Given the description of an element on the screen output the (x, y) to click on. 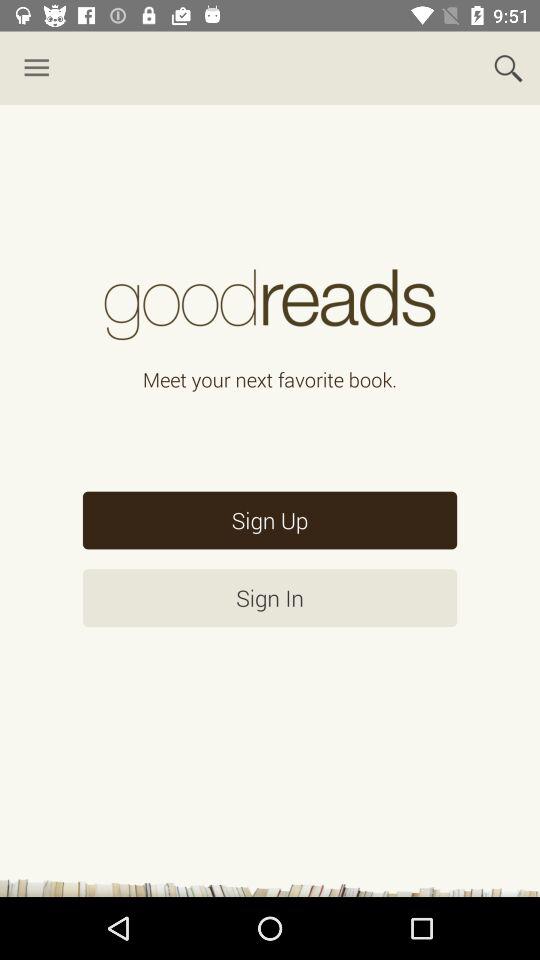
click icon below the meet your next item (269, 520)
